Given the description of an element on the screen output the (x, y) to click on. 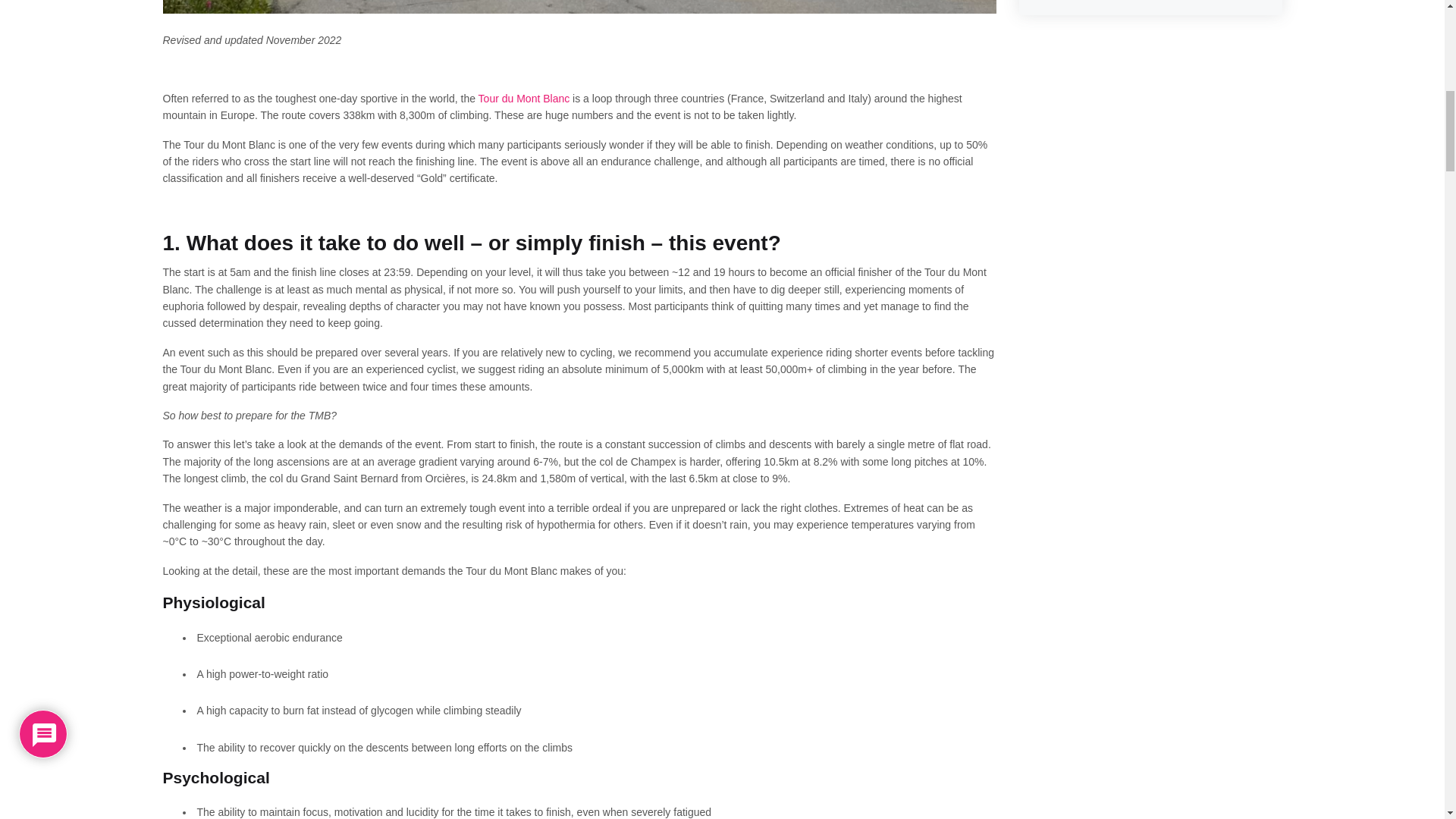
Tour du Mont Blanc (524, 98)
